Given the description of an element on the screen output the (x, y) to click on. 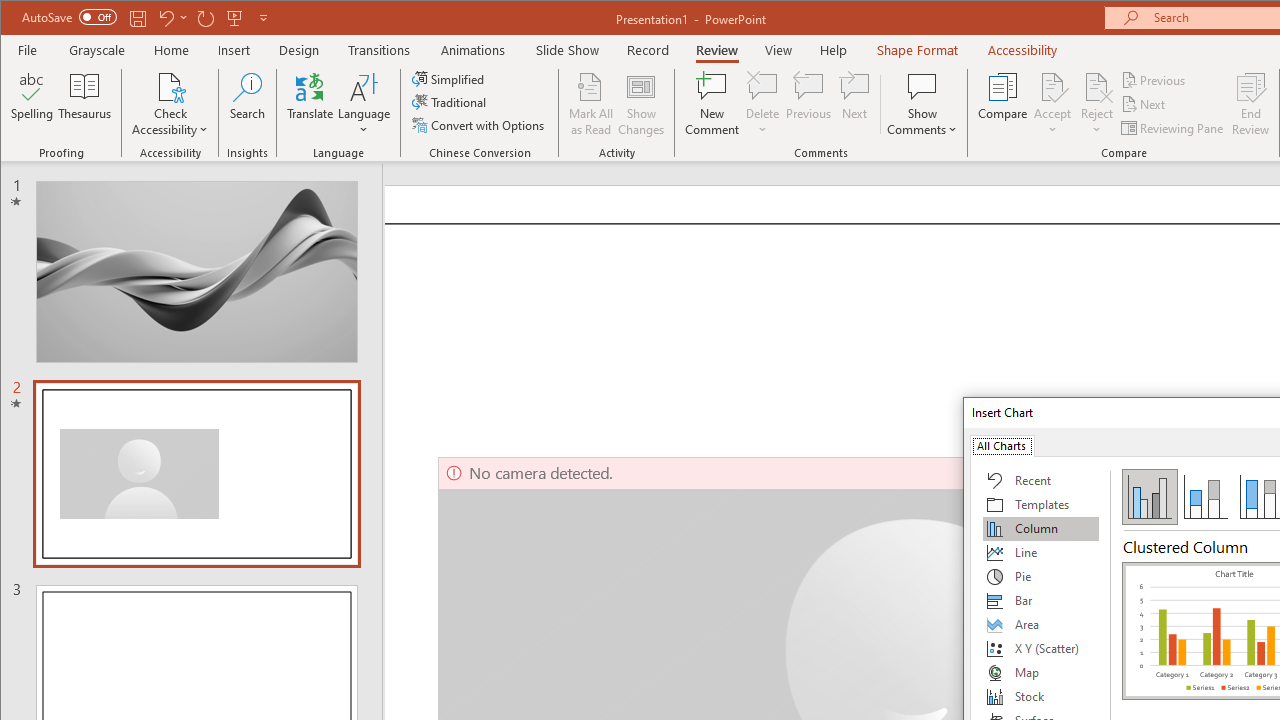
X Y (Scatter) (1041, 648)
Previous (1154, 80)
Reject (1096, 104)
Grayscale (97, 50)
Next (1144, 103)
End Review (1251, 104)
Stacked Column (1205, 496)
Language (363, 104)
Recent (1041, 480)
